Given the description of an element on the screen output the (x, y) to click on. 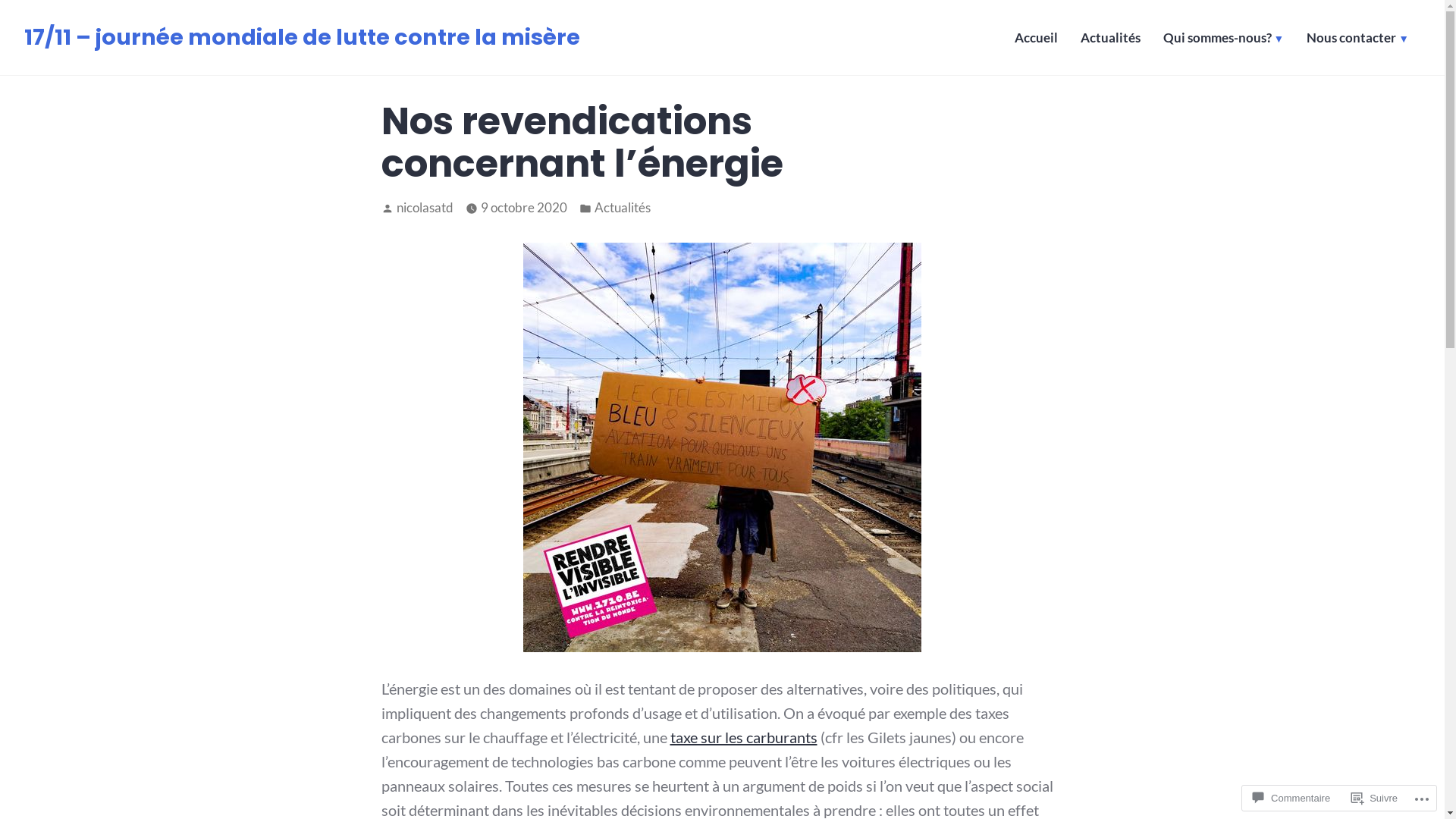
Commentaire Element type: text (1291, 797)
Qui sommes-nous? Element type: text (1223, 40)
taxe sur les carburants Element type: text (743, 737)
9 octobre 2020 Element type: text (523, 207)
Accueil Element type: text (1035, 40)
Nous contacter Element type: text (1357, 40)
Suivre Element type: text (1374, 797)
nicolasatd Element type: text (423, 207)
